Given the description of an element on the screen output the (x, y) to click on. 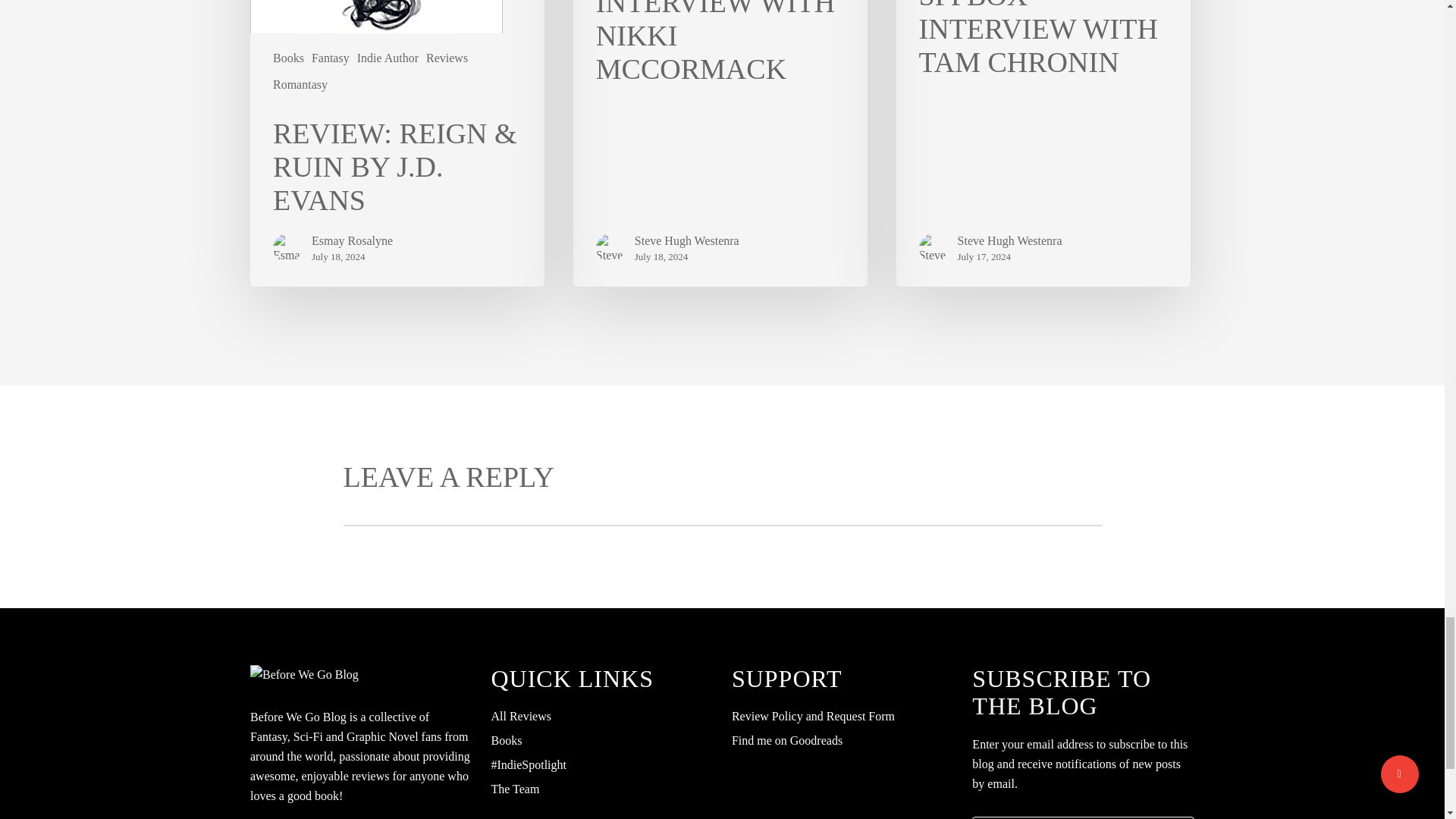
Indie Author (387, 58)
Books (288, 58)
Romantasy (300, 85)
Reviews (446, 58)
Esmay Rosalyne (352, 240)
Fantasy (330, 58)
